Given the description of an element on the screen output the (x, y) to click on. 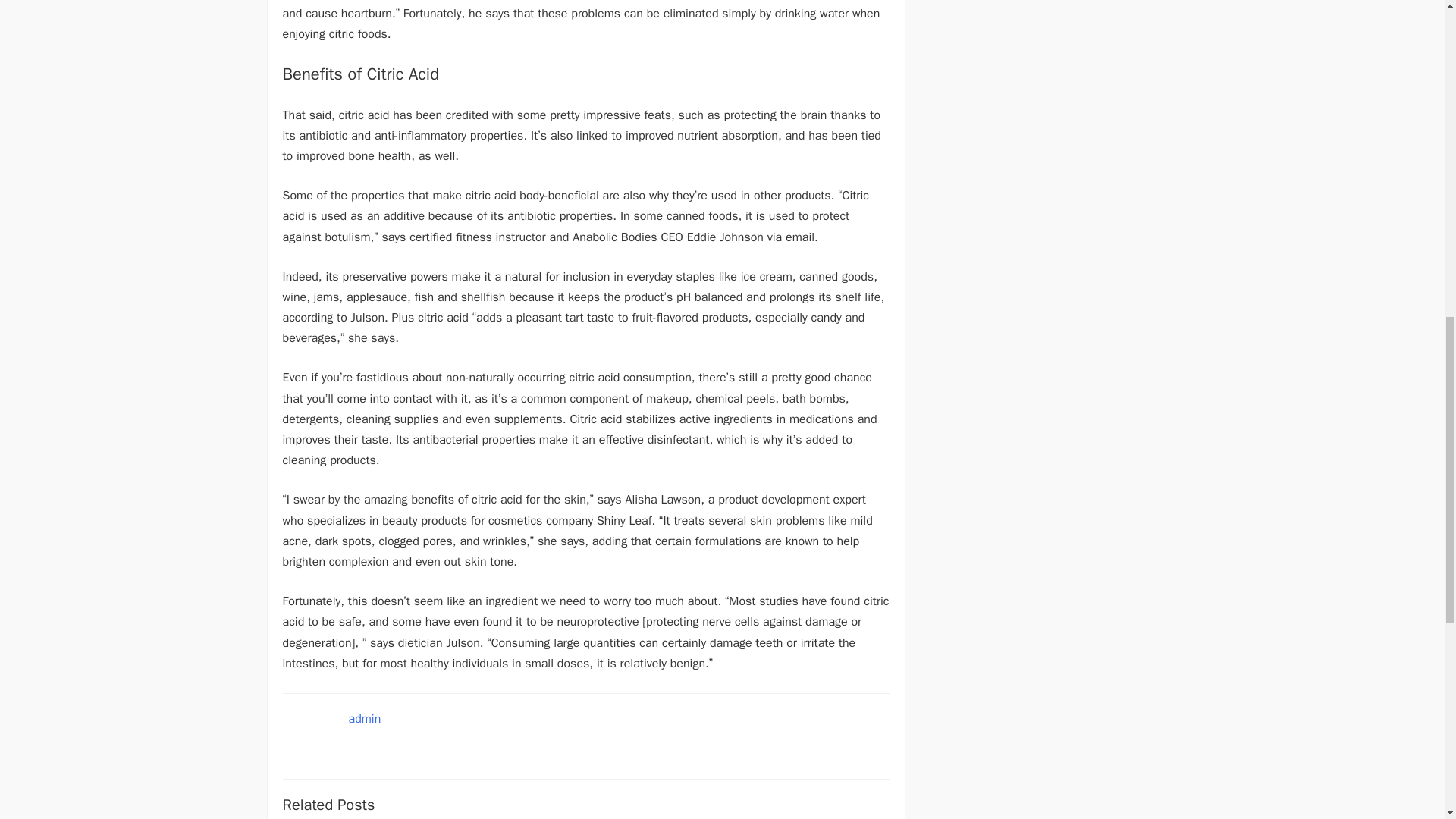
admin (365, 718)
